Given the description of an element on the screen output the (x, y) to click on. 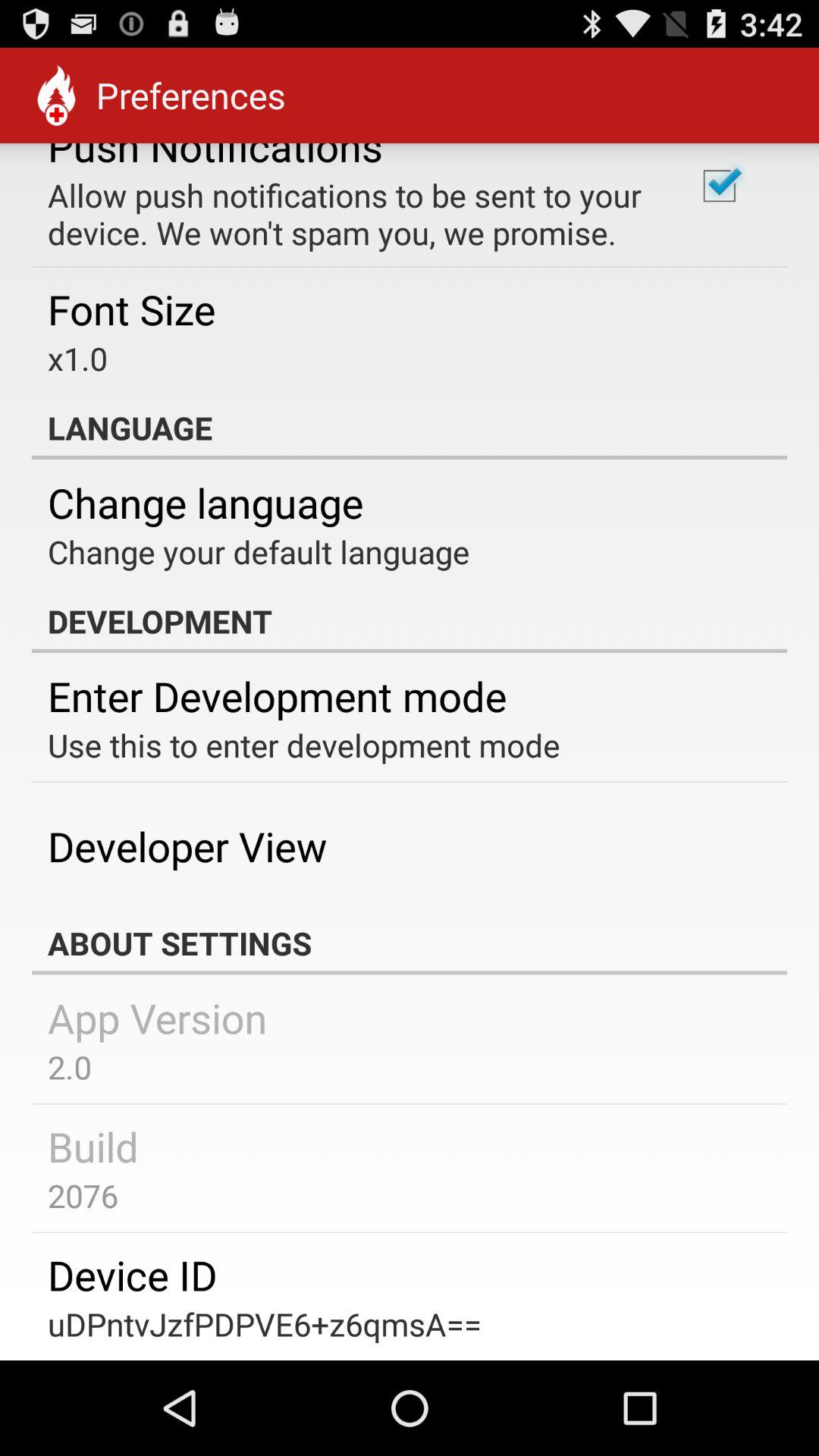
open the item at the top right corner (719, 185)
